Given the description of an element on the screen output the (x, y) to click on. 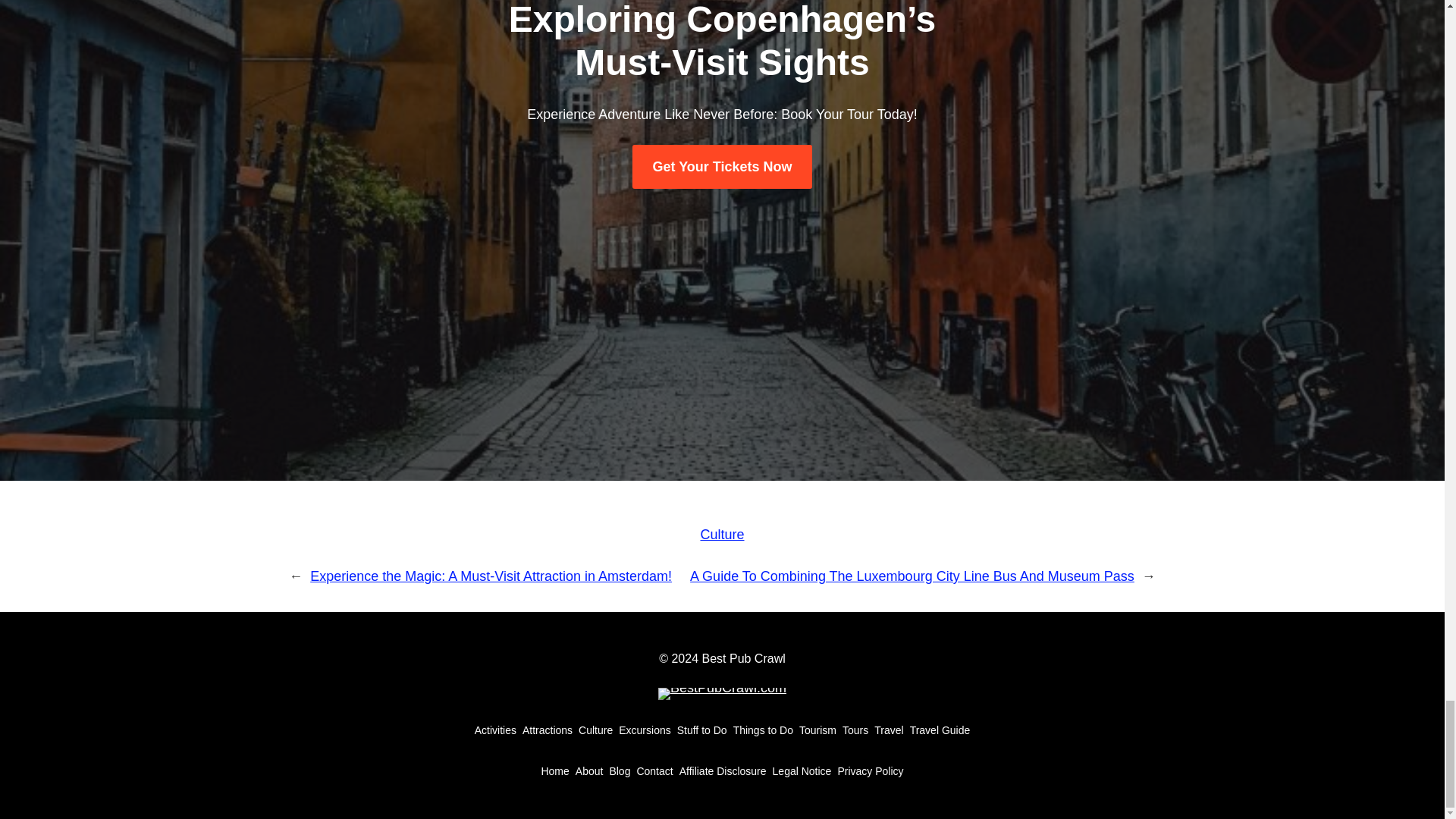
Experience the Magic: A Must-Visit Attraction in Amsterdam! (490, 575)
Home (554, 770)
Things to Do (763, 730)
Tours (855, 730)
Tourism (817, 730)
Attractions (547, 730)
Culture (722, 534)
Blog (619, 770)
Culture (595, 730)
